Given the description of an element on the screen output the (x, y) to click on. 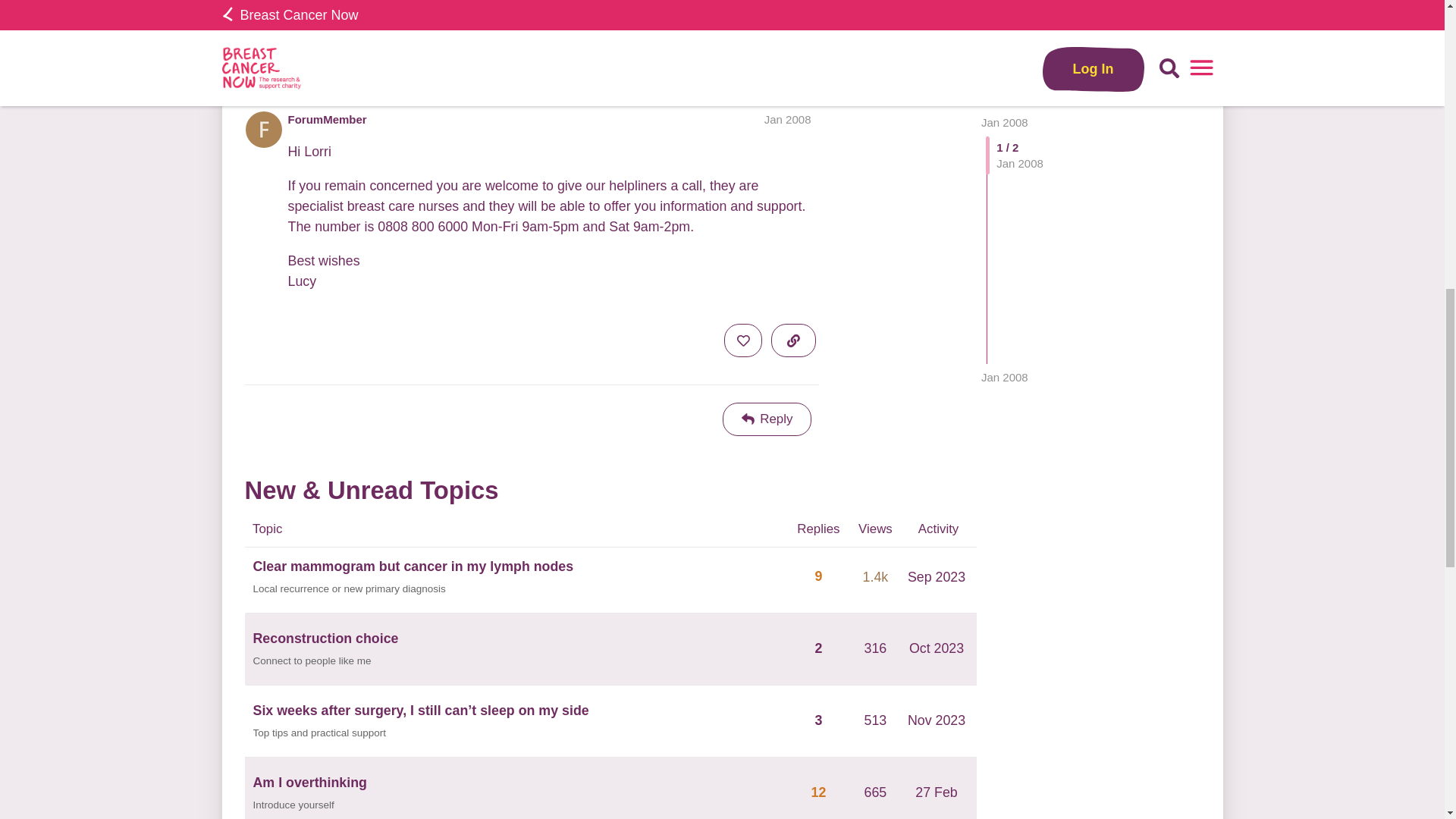
Nov 2023 (936, 720)
Clear mammogram but cancer in my lymph nodes (413, 566)
Local recurrence or new primary diagnosis (349, 589)
3 Jan 2008 04:21 (1004, 20)
Top tips and practical support (320, 733)
expand topic details (793, 50)
Jan 2008 (787, 119)
3 Jan 2008 04:16 (340, 56)
ForumMember (327, 119)
system (304, 58)
